Given the description of an element on the screen output the (x, y) to click on. 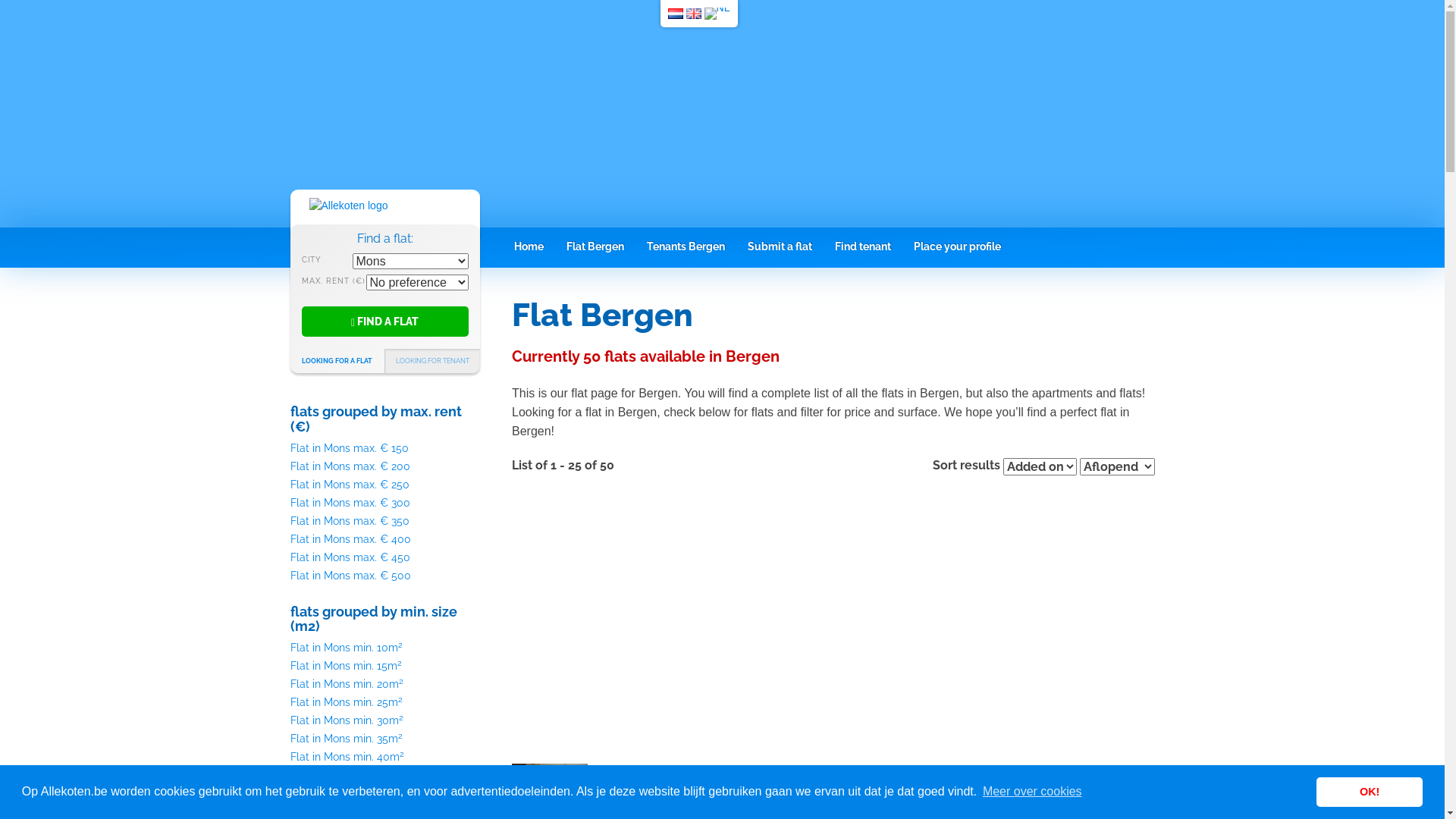
English Element type: hover (693, 13)
Flat in Mons min. 10m2 Element type: text (345, 647)
Nederlands Element type: hover (675, 13)
Flat in Mons min. 45m2 Element type: text (345, 774)
Luitberg, Grimbergen Element type: text (672, 770)
Flat in Mons min. 25m2 Element type: text (345, 702)
Submit a flat Element type: text (778, 246)
Advertisement Element type: hover (832, 619)
Home Element type: text (528, 246)
Flat in Mons min. 40m2 Element type: text (346, 756)
Flat Bergen Element type: text (595, 246)
Flat in Mons min. 20m2 Element type: text (345, 683)
Flat in Mons min. 35m2 Element type: text (345, 738)
Allekoten.be Element type: hover (348, 205)
Flat in Mons min. 50m2 Element type: text (346, 793)
Flat in Mons min. 15m2 Element type: text (345, 665)
Find tenant Element type: text (862, 246)
Meer over cookies Element type: text (1032, 791)
Place your profile Element type: text (957, 246)
Flat in Mons min. 30m2 Element type: text (345, 720)
OK! Element type: text (1369, 791)
Tenants Bergen Element type: text (685, 246)
